Given the description of an element on the screen output the (x, y) to click on. 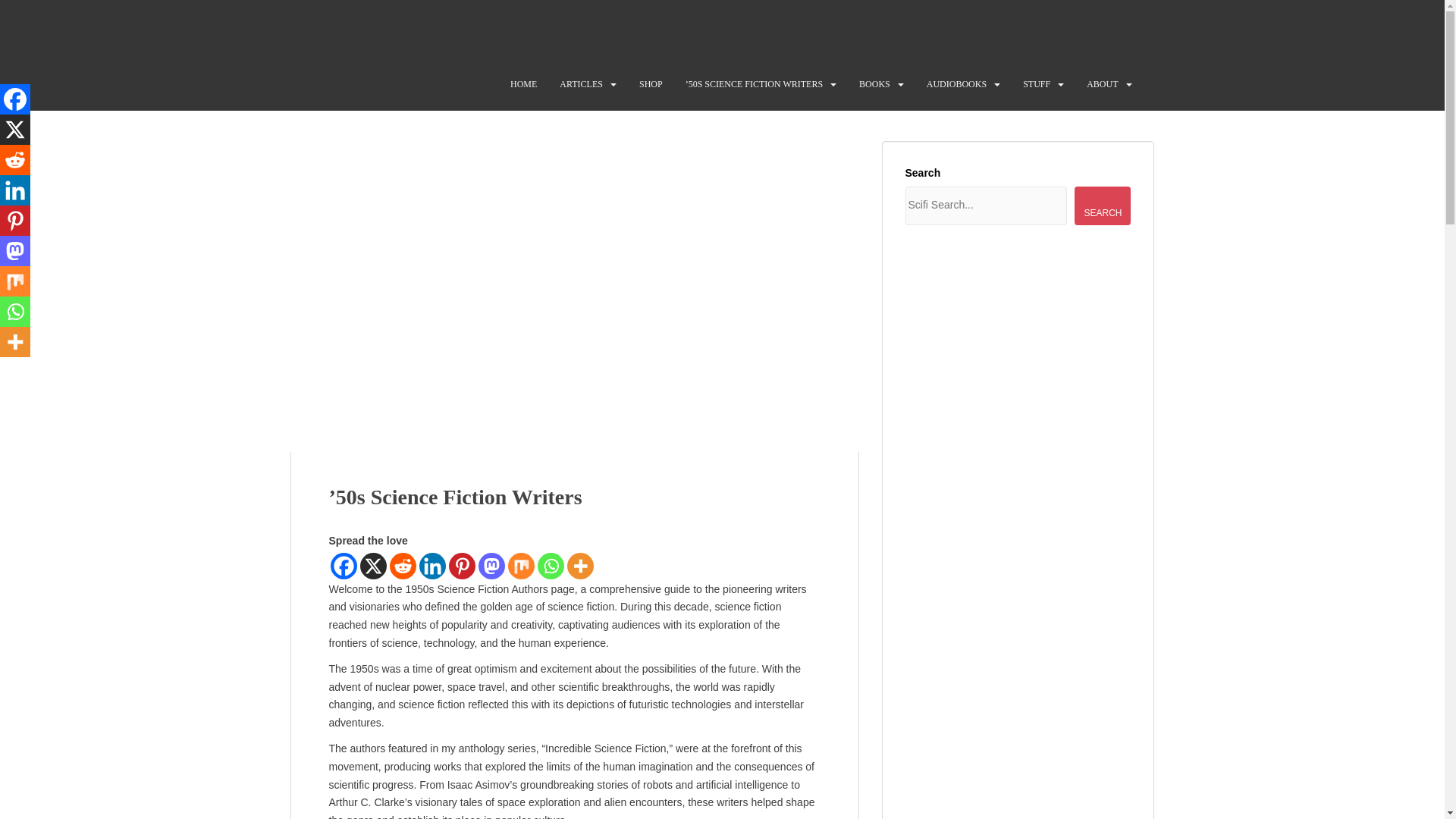
ARTICLES (580, 83)
Pinterest (462, 565)
Facebook (343, 565)
X (15, 129)
Whatsapp (550, 565)
Reddit (15, 159)
Mix (521, 565)
HOME (524, 83)
Reddit (403, 565)
Facebook (15, 99)
Mastodon (490, 565)
Linkedin (432, 565)
X (372, 565)
More (580, 565)
